Given the description of an element on the screen output the (x, y) to click on. 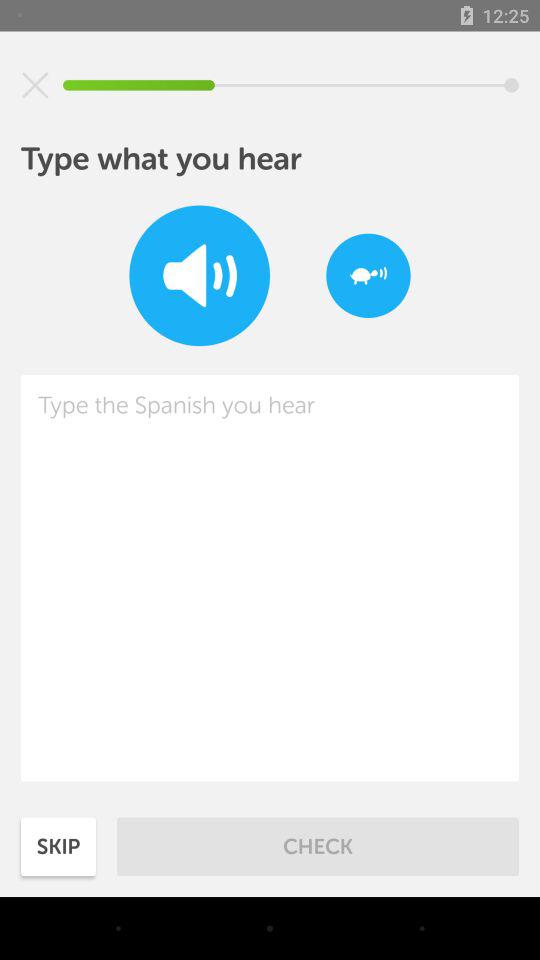
launch icon at the bottom left corner (58, 846)
